Given the description of an element on the screen output the (x, y) to click on. 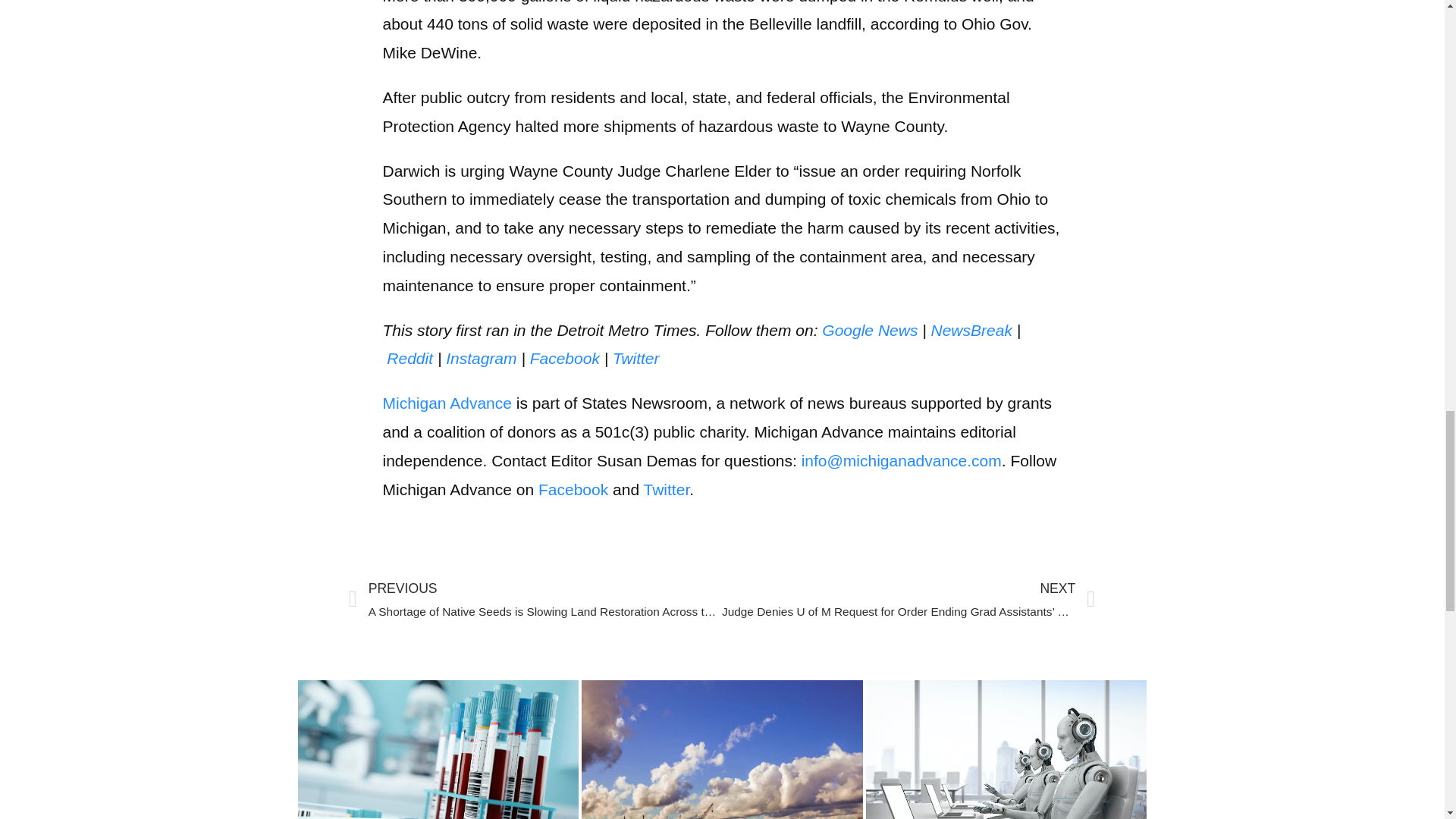
Michigan Advance (446, 402)
Twitter (635, 357)
NewsBreak (971, 330)
Reddit (409, 357)
Facebook (573, 488)
Twitter (666, 488)
Facebook  (566, 357)
Google News (869, 330)
Instagram (480, 357)
